Given the description of an element on the screen output the (x, y) to click on. 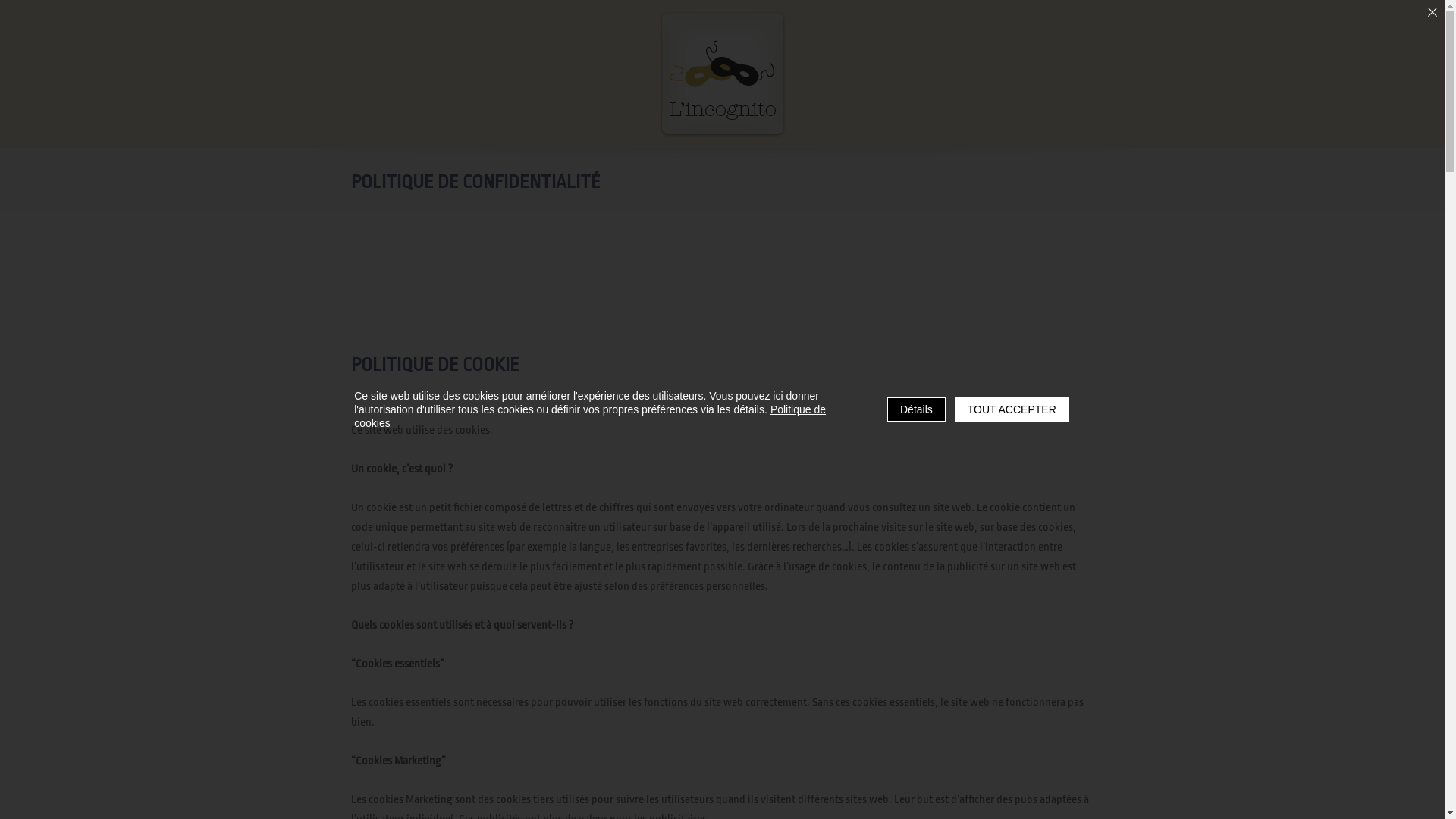
Politique de cookies Element type: text (589, 416)
TOUT ACCEPTER Element type: text (1011, 409)
